Given the description of an element on the screen output the (x, y) to click on. 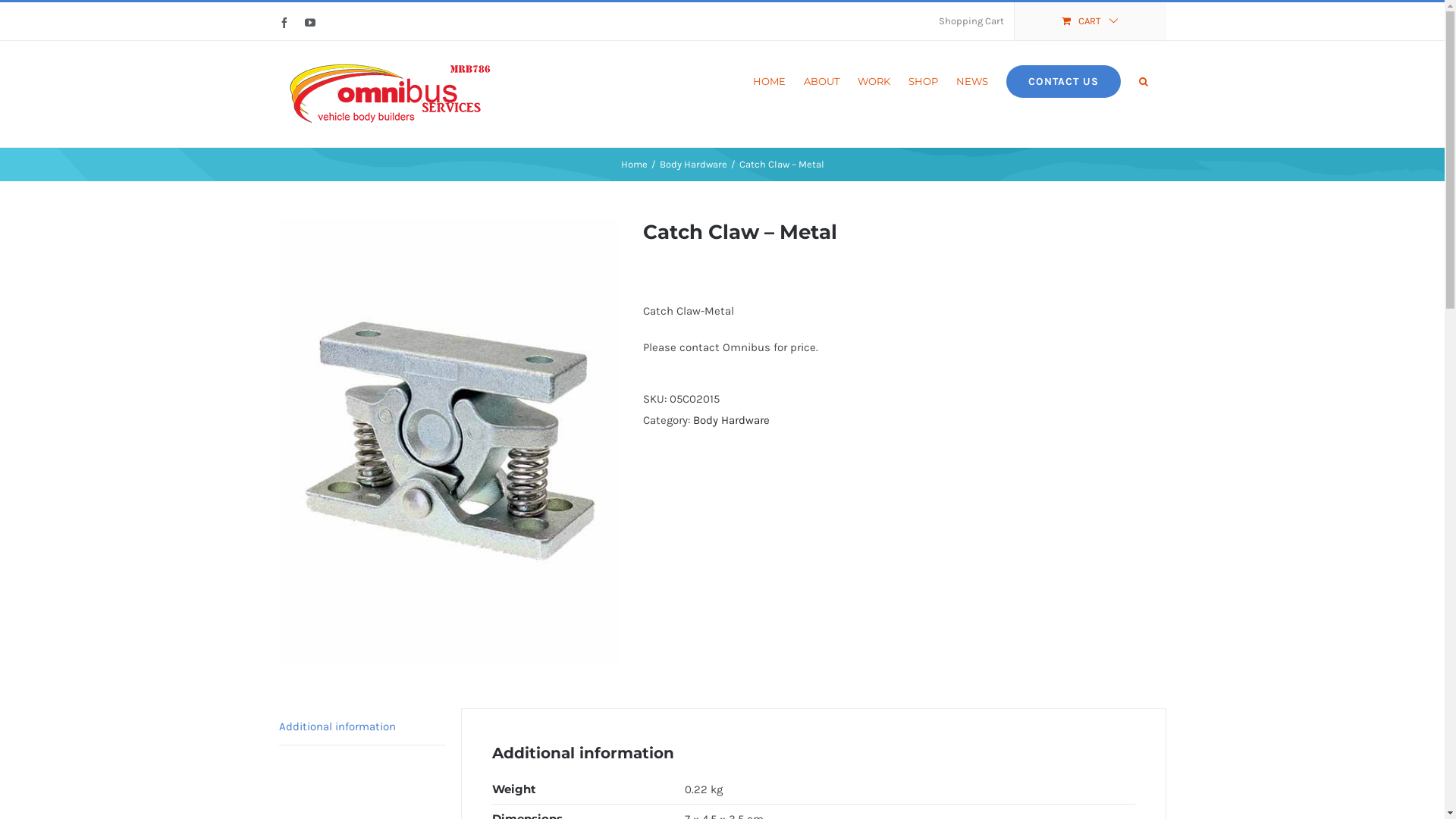
CART Element type: text (1090, 21)
Additional information Element type: text (362, 726)
Home Element type: text (633, 163)
SHOP Element type: text (923, 79)
WORK Element type: text (872, 79)
Shopping Cart Element type: text (970, 21)
CONTACT US Element type: text (1062, 79)
Facebook Element type: text (284, 22)
NEWS Element type: text (971, 79)
ABOUT Element type: text (821, 79)
Catch Claw Element type: hover (449, 440)
Body Hardware Element type: text (693, 163)
Body Hardware Element type: text (731, 419)
HOME Element type: text (768, 79)
Search Element type: hover (1143, 79)
YouTube Element type: text (309, 22)
